Given the description of an element on the screen output the (x, y) to click on. 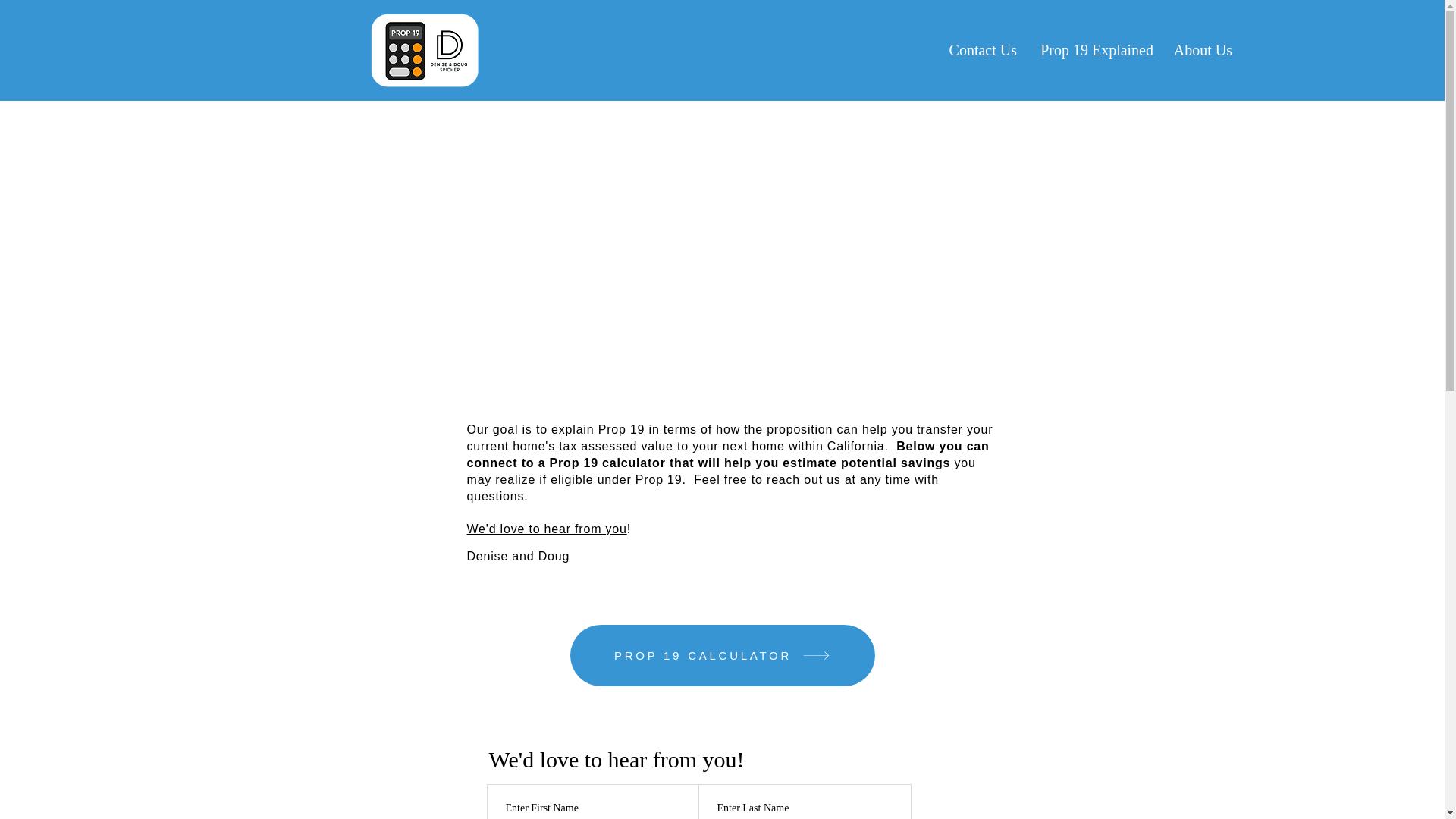
Prop 19 Explained (1092, 50)
explain Prop 19 (598, 429)
reach out us (804, 479)
if eligible (565, 479)
Prop 19 Calculator (423, 50)
We'd love to hear from you (547, 528)
Contact Us (979, 50)
About Us (1200, 50)
PROP 19 CALCULATOR (722, 655)
